Given the description of an element on the screen output the (x, y) to click on. 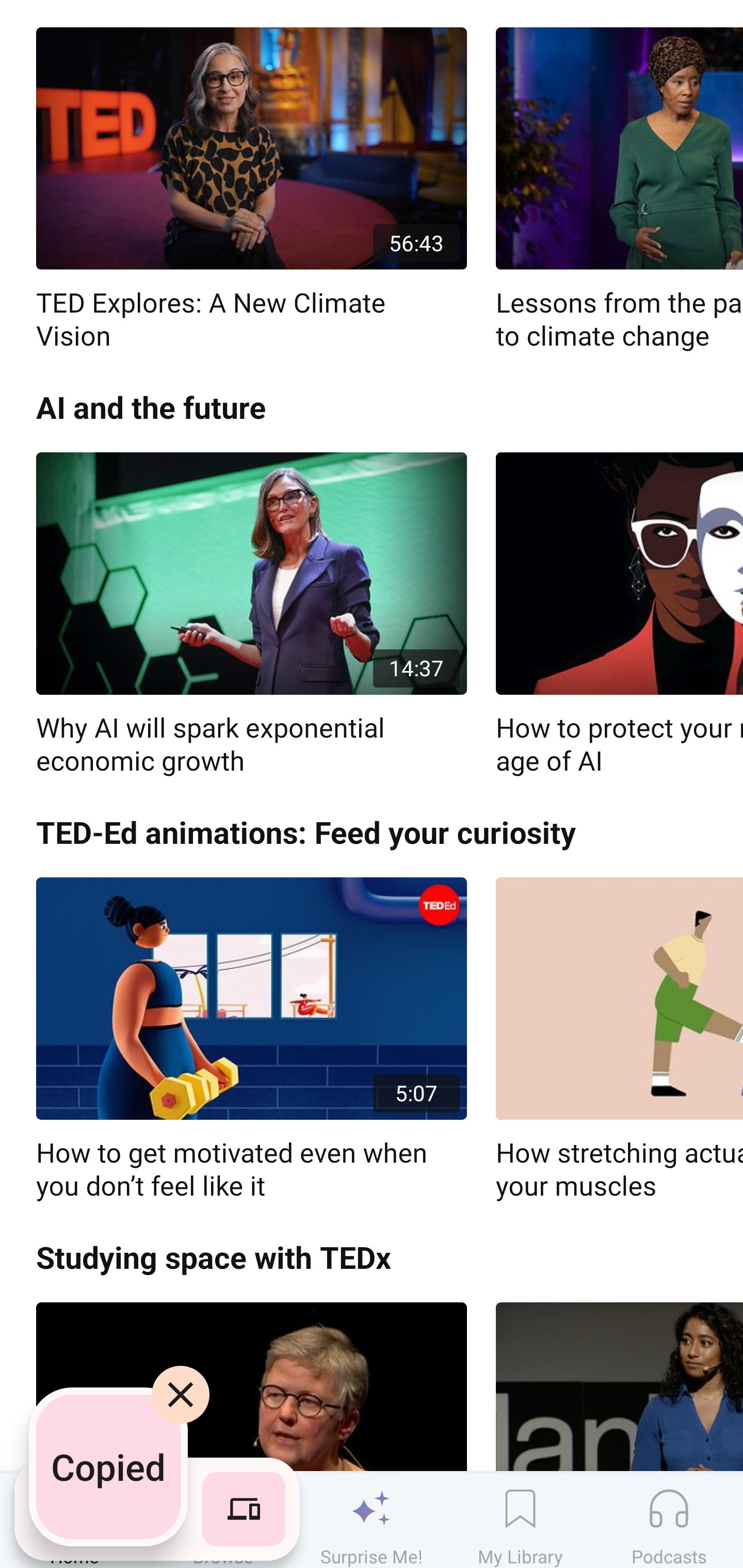
56:43 TED Explores: A New Climate Vision (251, 189)
How to protect your rights in the age of AI (619, 614)
How stretching actually changes your muscles (619, 1040)
Surprise Me! (371, 1520)
My Library (519, 1520)
Podcasts (668, 1520)
